Given the description of an element on the screen output the (x, y) to click on. 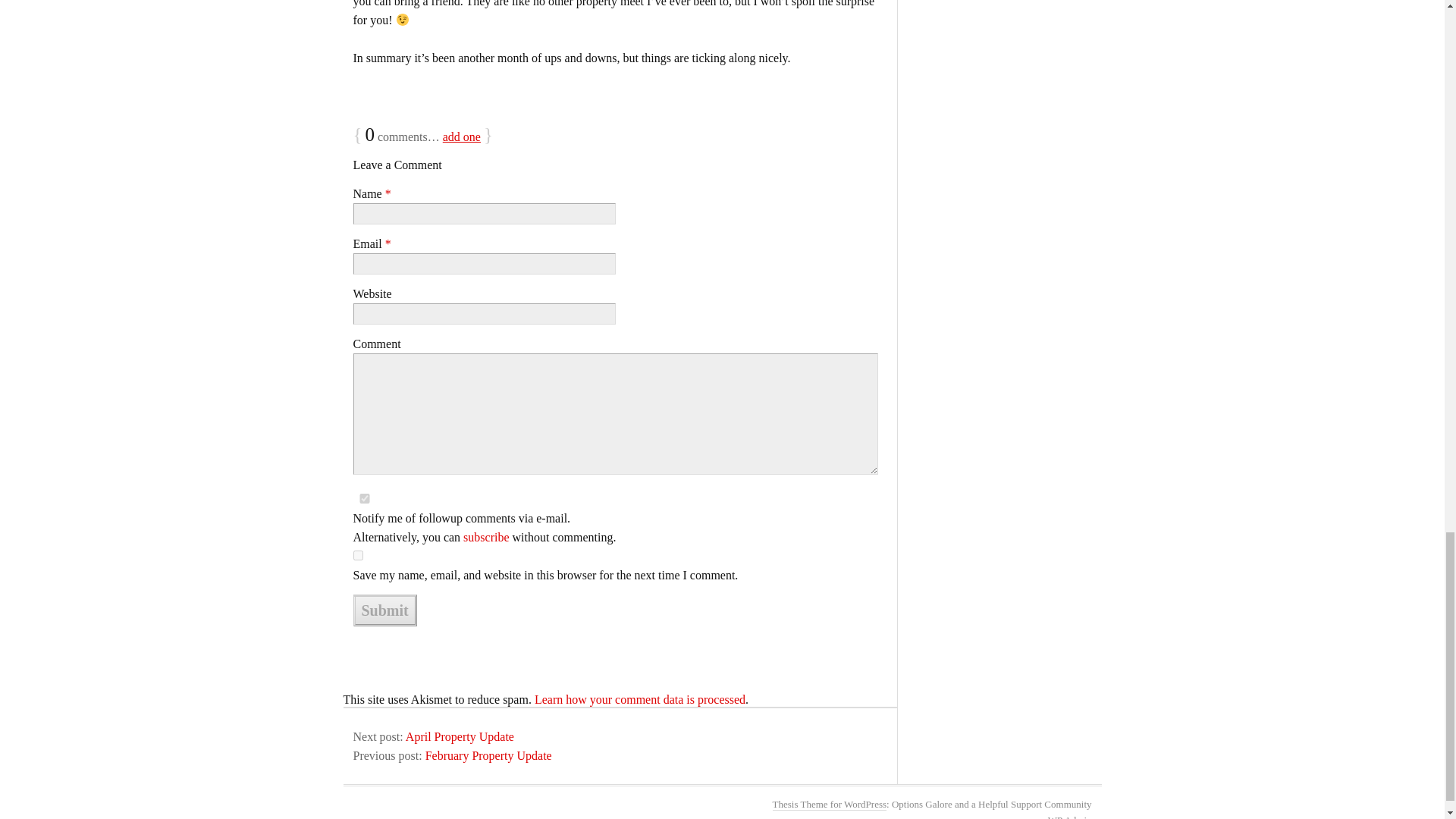
yes (364, 498)
subscribe (485, 536)
February Property Update (488, 755)
yes (357, 555)
add one (461, 136)
Learn how your comment data is processed (639, 698)
Submit (384, 610)
April Property Update (459, 736)
Submit (384, 610)
